Given the description of an element on the screen output the (x, y) to click on. 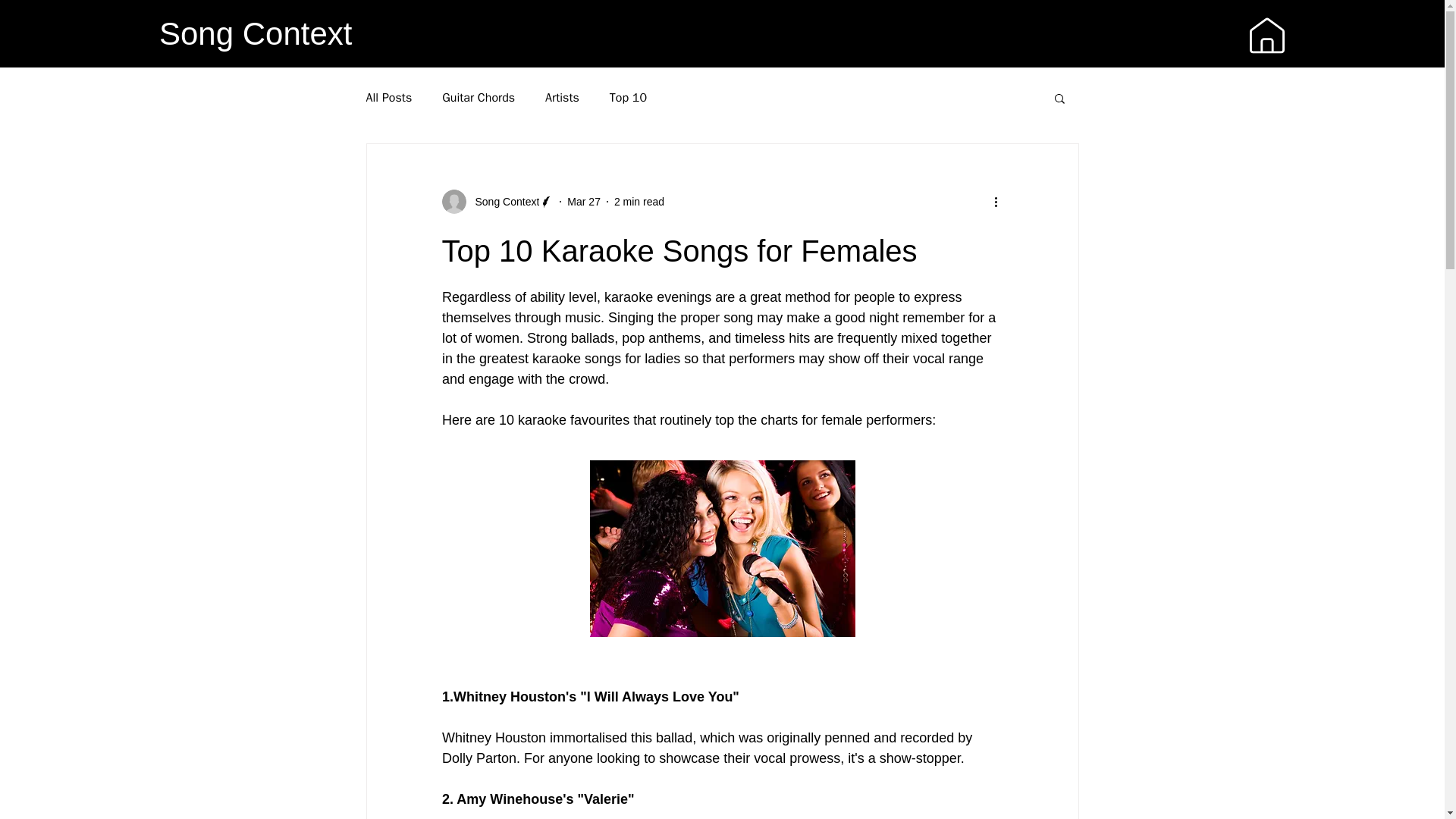
Song Context (255, 33)
Artists (561, 97)
Mar 27 (583, 201)
Song Context (501, 201)
2 min read (638, 201)
Top 10 (628, 97)
All Posts (388, 97)
Guitar Chords (478, 97)
